Given the description of an element on the screen output the (x, y) to click on. 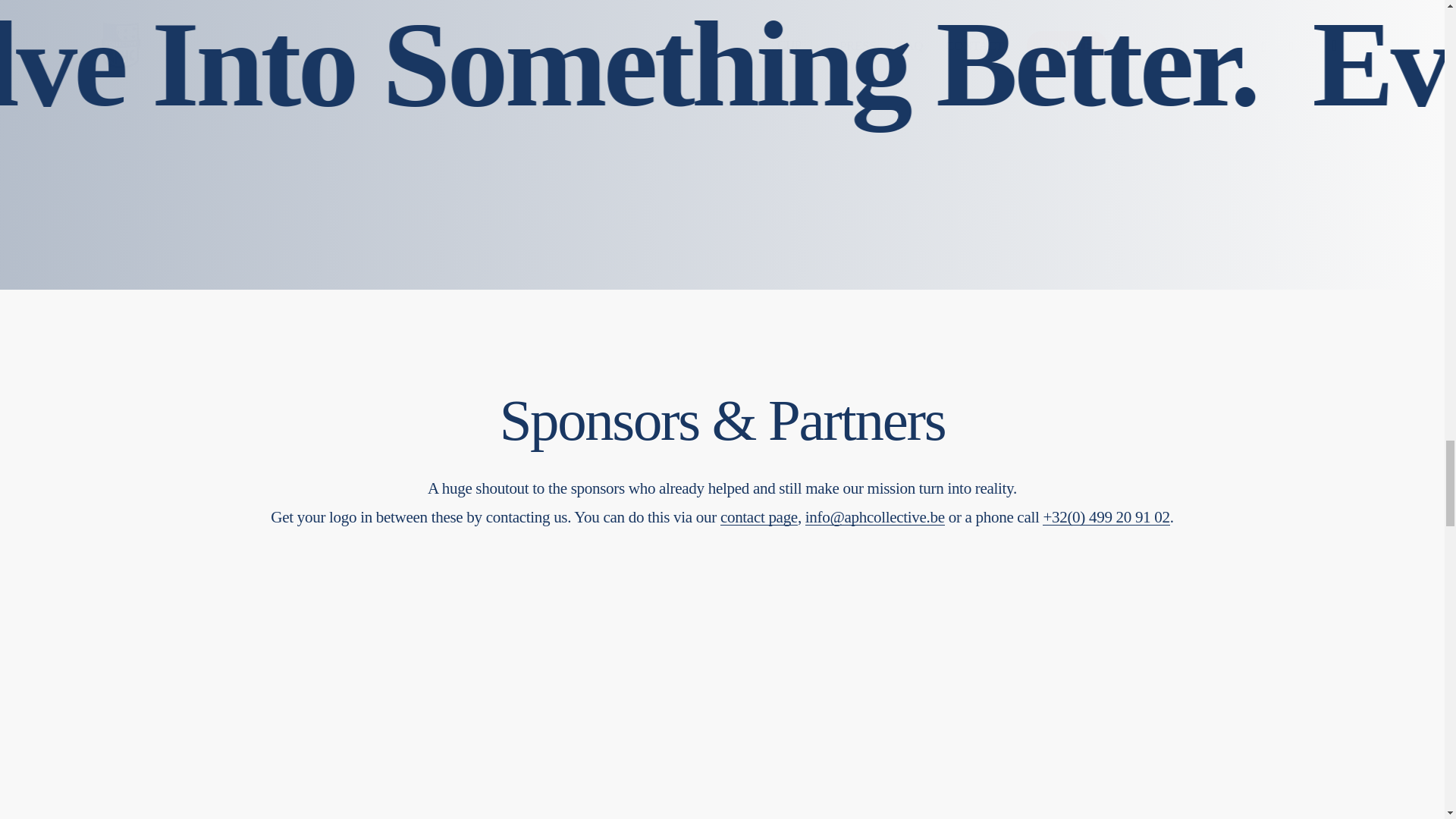
Evolve Into Something Better. (758, 516)
